Given the description of an element on the screen output the (x, y) to click on. 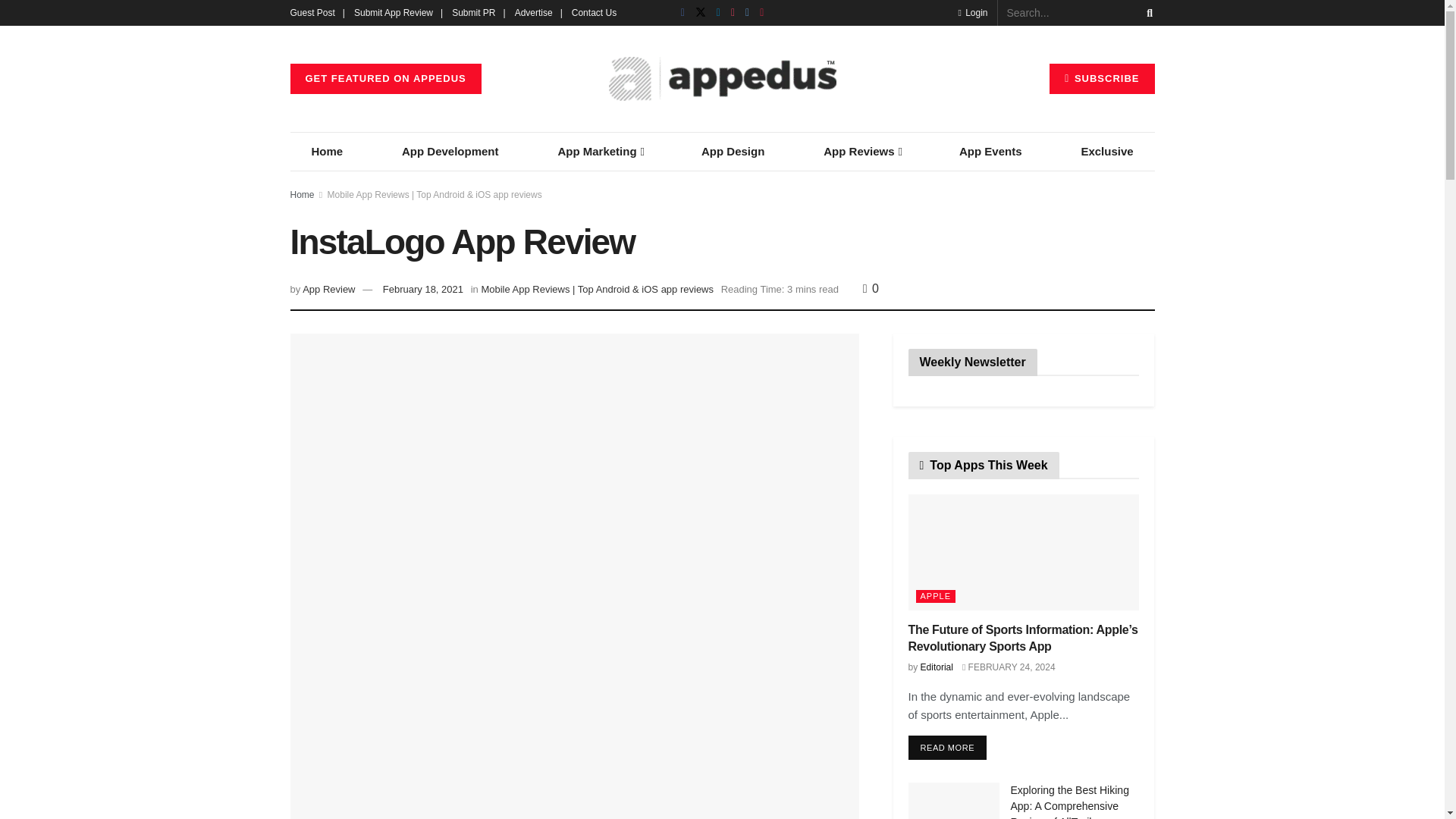
App Marketing (599, 151)
App Design (732, 151)
App Development (449, 151)
SUBSCRIBE (1101, 78)
Home (326, 151)
Contact Us (593, 12)
GET FEATURED ON APPEDUS (384, 78)
Login (972, 12)
App Reviews (861, 151)
